Given the description of an element on the screen output the (x, y) to click on. 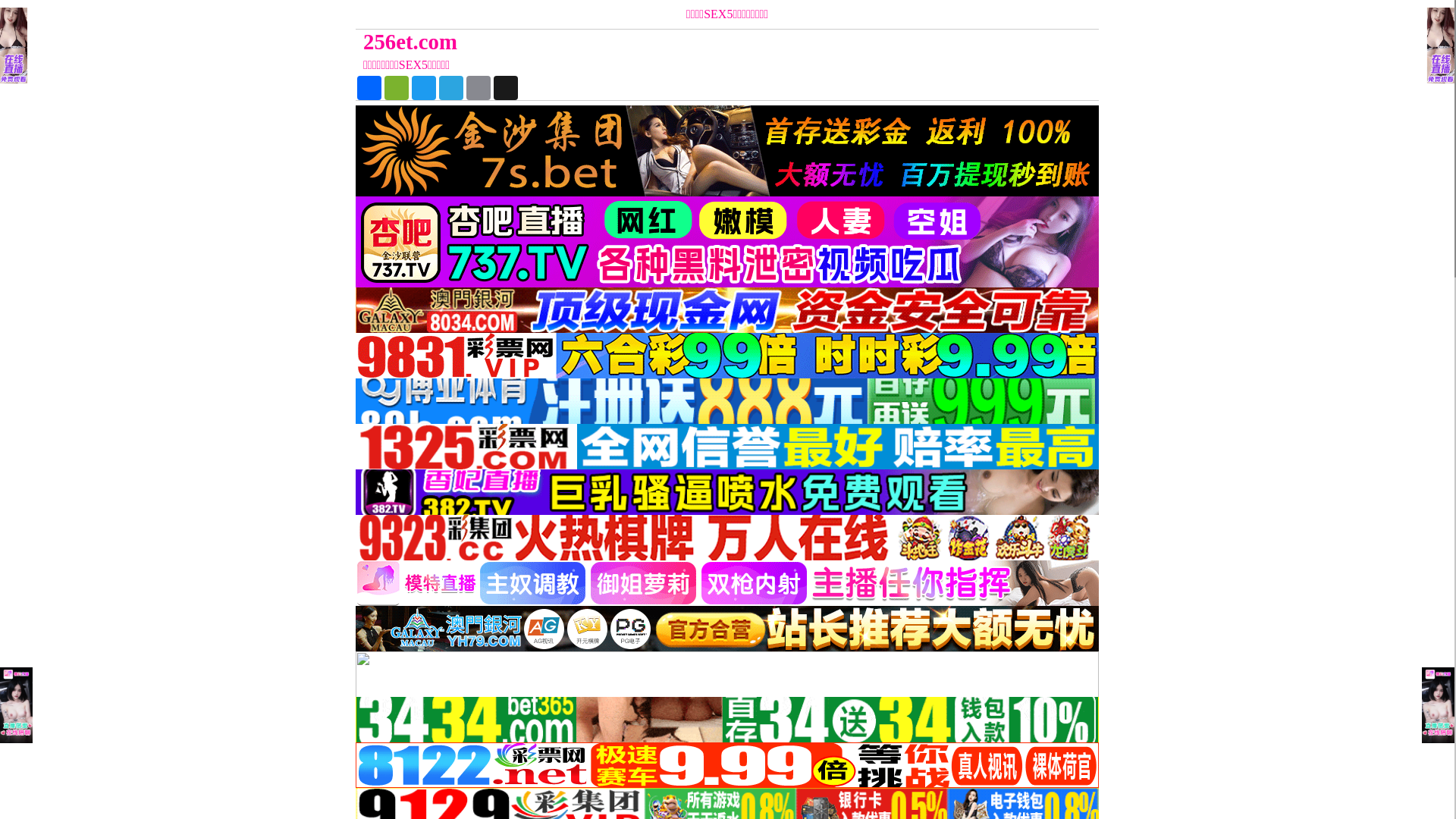
X Element type: text (505, 87)
WeChat Element type: text (396, 87)
Twitter Element type: text (423, 87)
Copy Link Element type: text (478, 87)
256et.com Element type: text (634, 41)
Telegram Element type: text (450, 87)
